Given the description of an element on the screen output the (x, y) to click on. 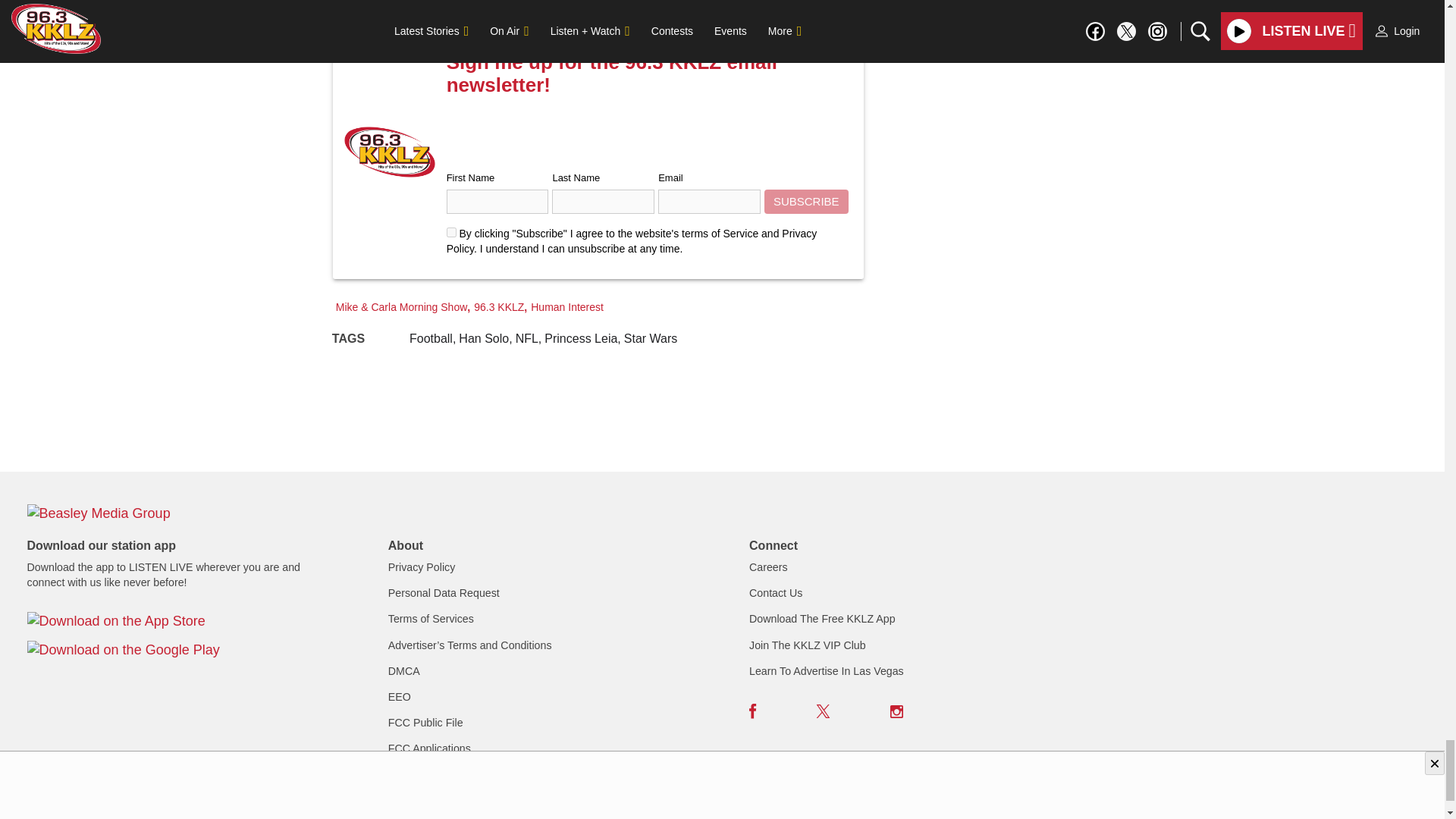
on (451, 232)
Twitter (823, 711)
Instagram (895, 711)
